Given the description of an element on the screen output the (x, y) to click on. 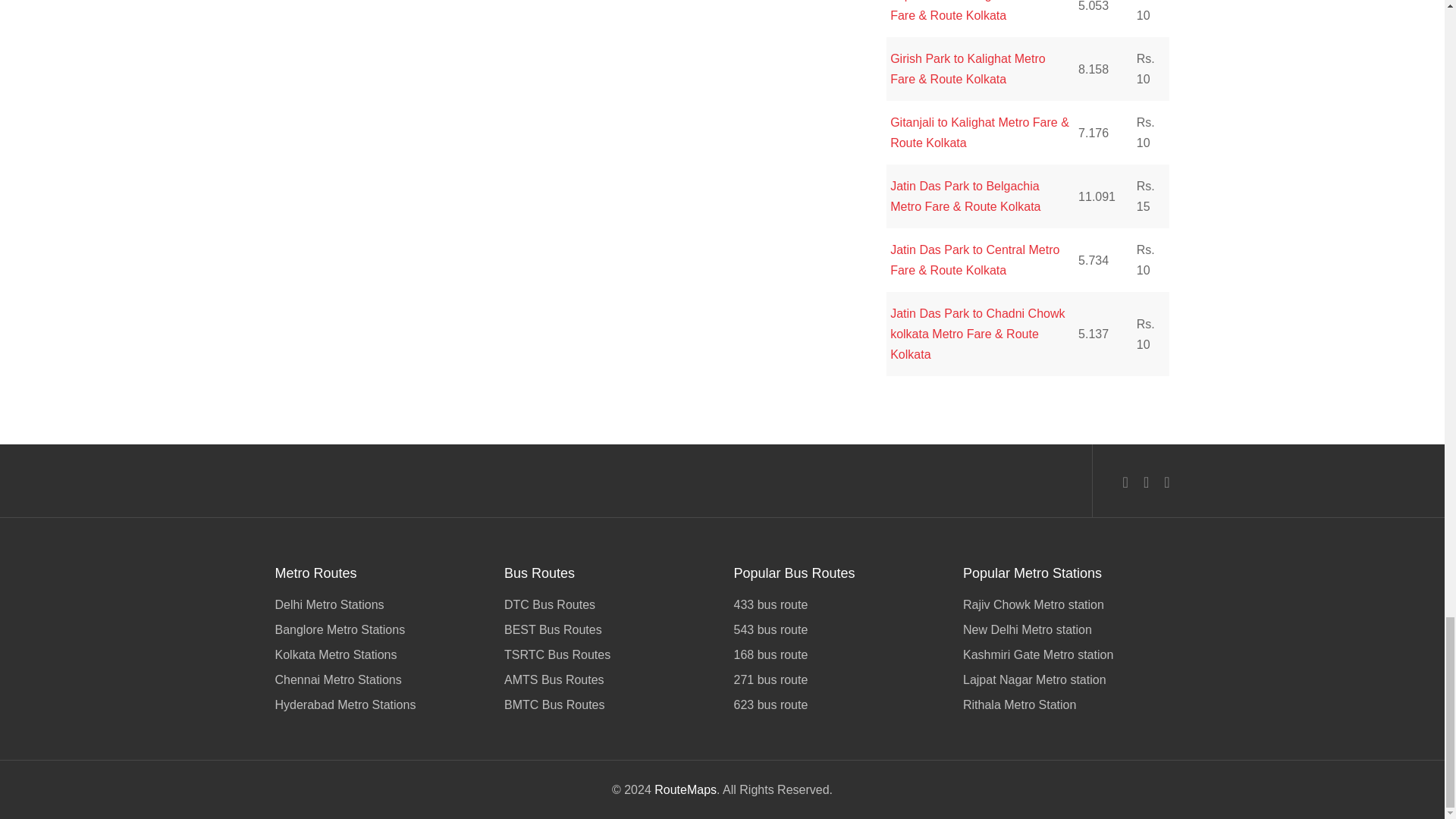
Pinterest (1166, 481)
Hyderabad Metro Stations (378, 703)
Kolkata Metro Stations (378, 654)
DTC Bus Routes (607, 606)
Chennai Metro Stations (378, 679)
543 bus route (836, 629)
TSRTC Bus Routes (607, 654)
Banglore Metro Stations (378, 629)
AMTS Bus Routes (607, 679)
Facebook (1125, 481)
Twitter (1145, 481)
BMTC Bus Routes (607, 703)
Delhi Metro Stations (378, 606)
623 bus route (836, 703)
BEST Bus Routes (607, 629)
